Given the description of an element on the screen output the (x, y) to click on. 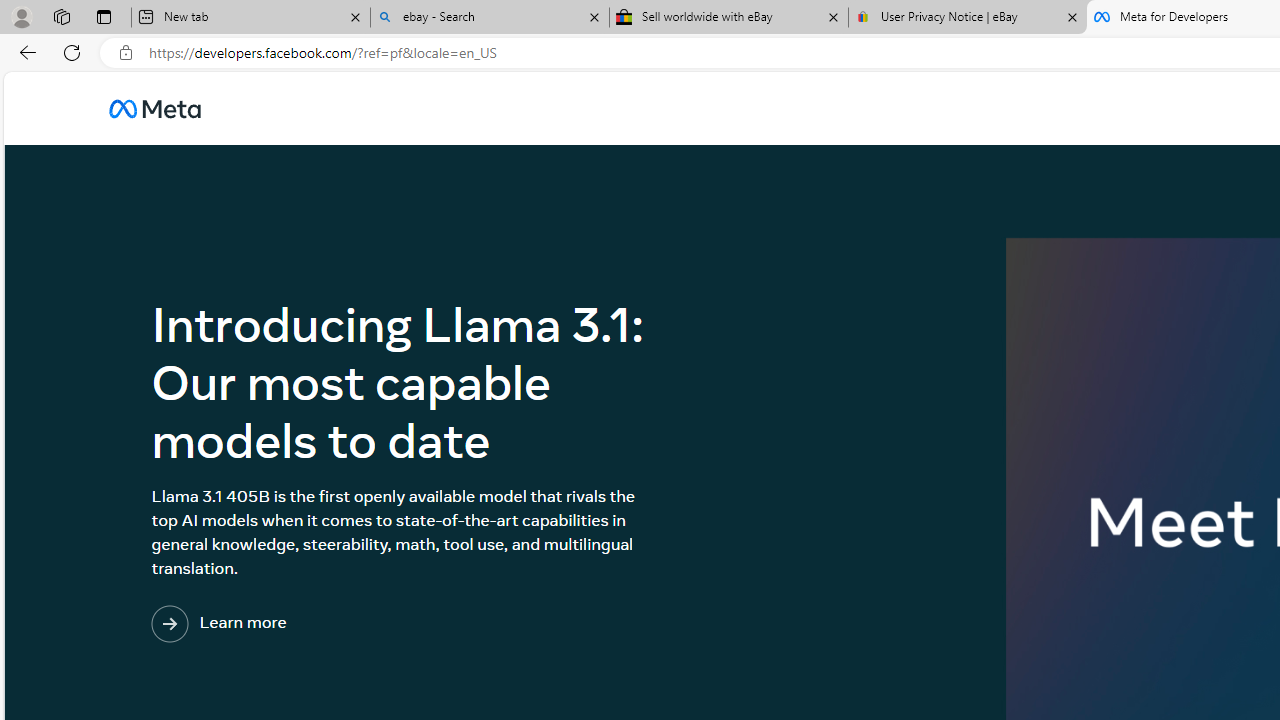
Learn more (301, 624)
AutomationID: u_0_25_3H (155, 107)
User Privacy Notice | eBay (967, 17)
